Given the description of an element on the screen output the (x, y) to click on. 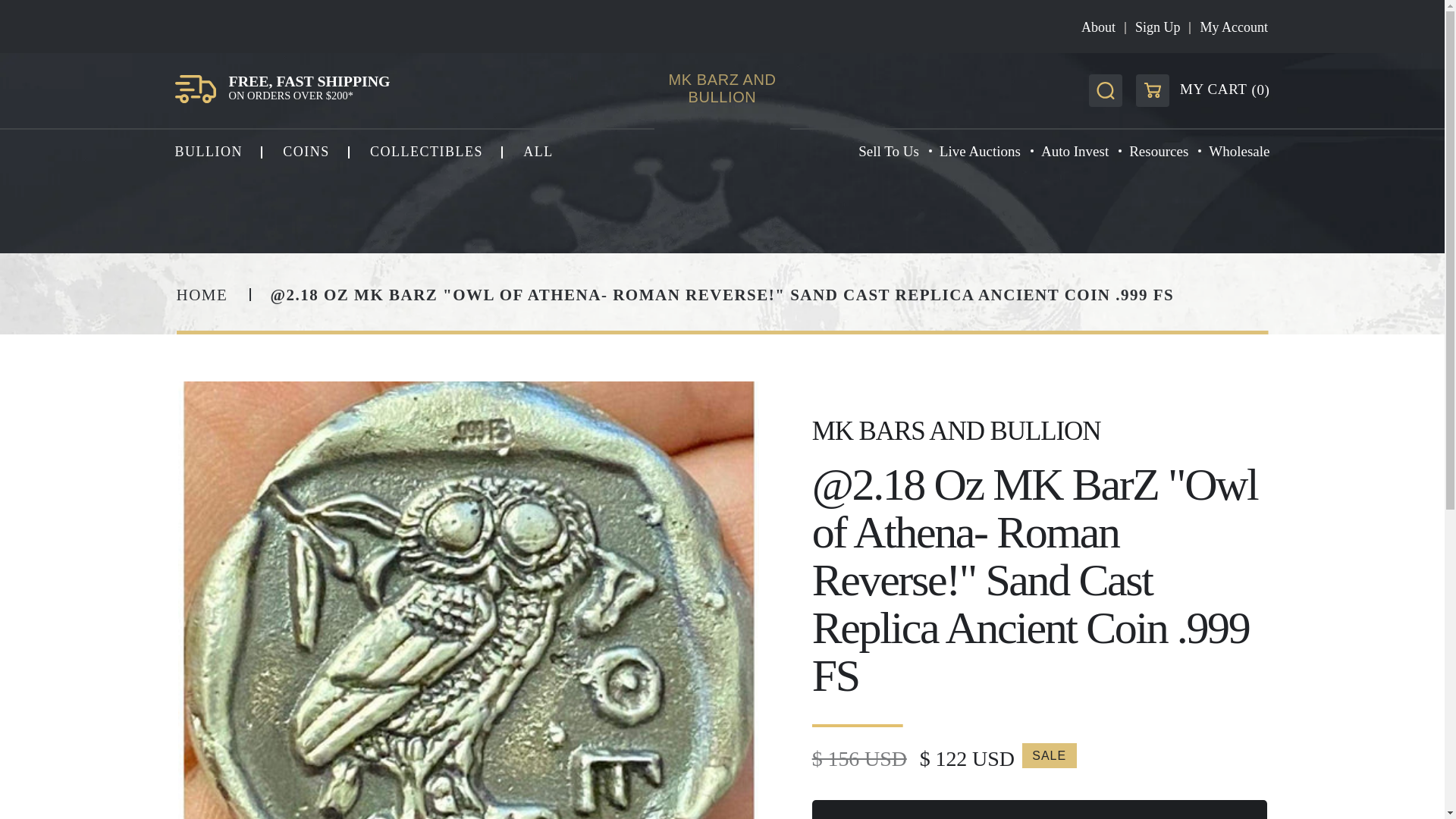
ALL (537, 151)
About (1098, 27)
COLLECTIBLES (426, 151)
BULLION (208, 151)
Sign Up (1157, 27)
COINS (306, 151)
About (1098, 27)
My Account (1233, 27)
MK BARZ AND BULLION (721, 89)
